Given the description of an element on the screen output the (x, y) to click on. 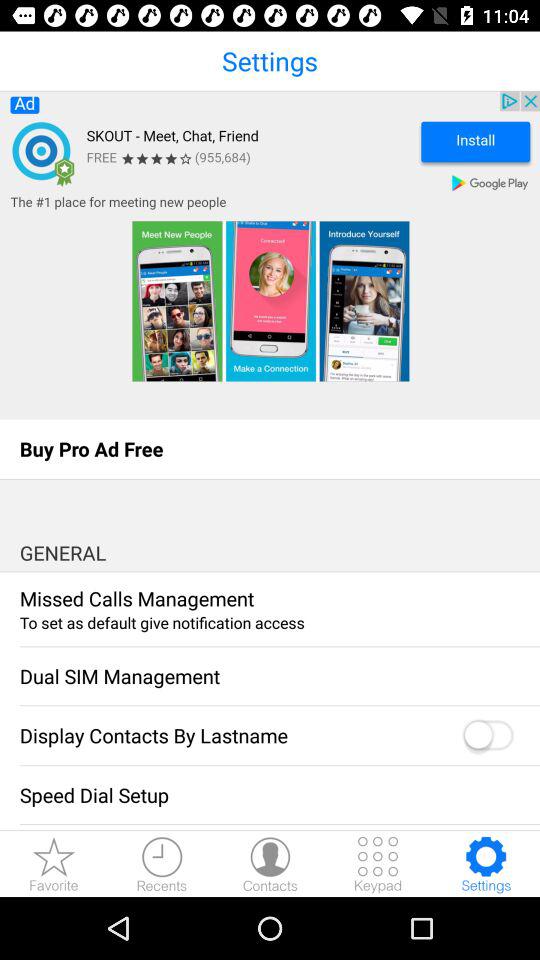
toggle (487, 736)
